Given the description of an element on the screen output the (x, y) to click on. 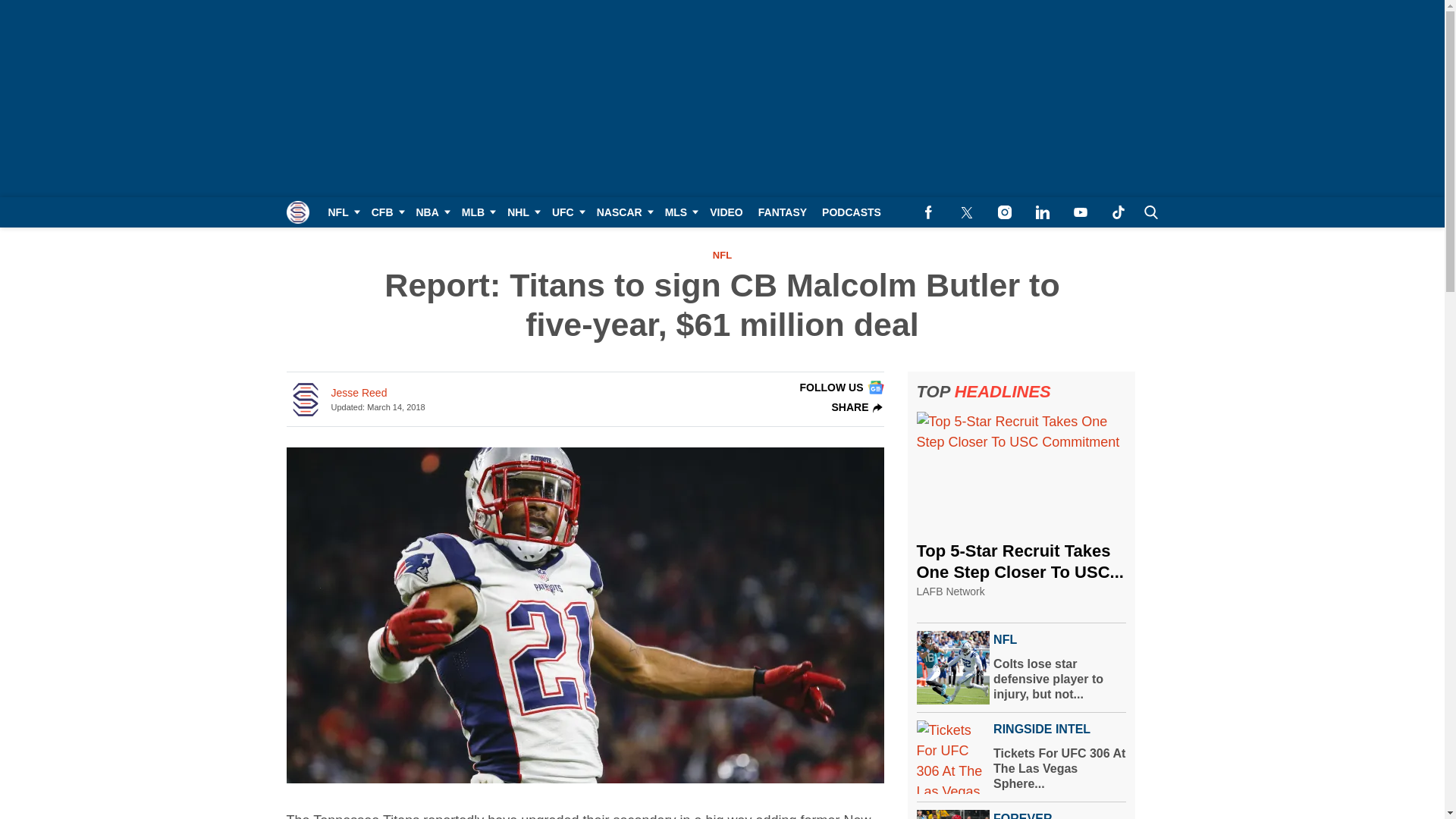
Subscribe to our YouTube channel (1080, 212)
Subscribe to our TikTok channel (1118, 212)
UFC (566, 212)
NFL (341, 212)
NBA (429, 212)
CFB (386, 212)
MLB (476, 212)
Follow us on Twitter (966, 212)
Posts by Jesse Reed (358, 392)
Connect with us on LinkedIn (1042, 212)
Follow us on Facebook (928, 212)
NHL (521, 212)
Follow us on Instagram (1004, 212)
